Given the description of an element on the screen output the (x, y) to click on. 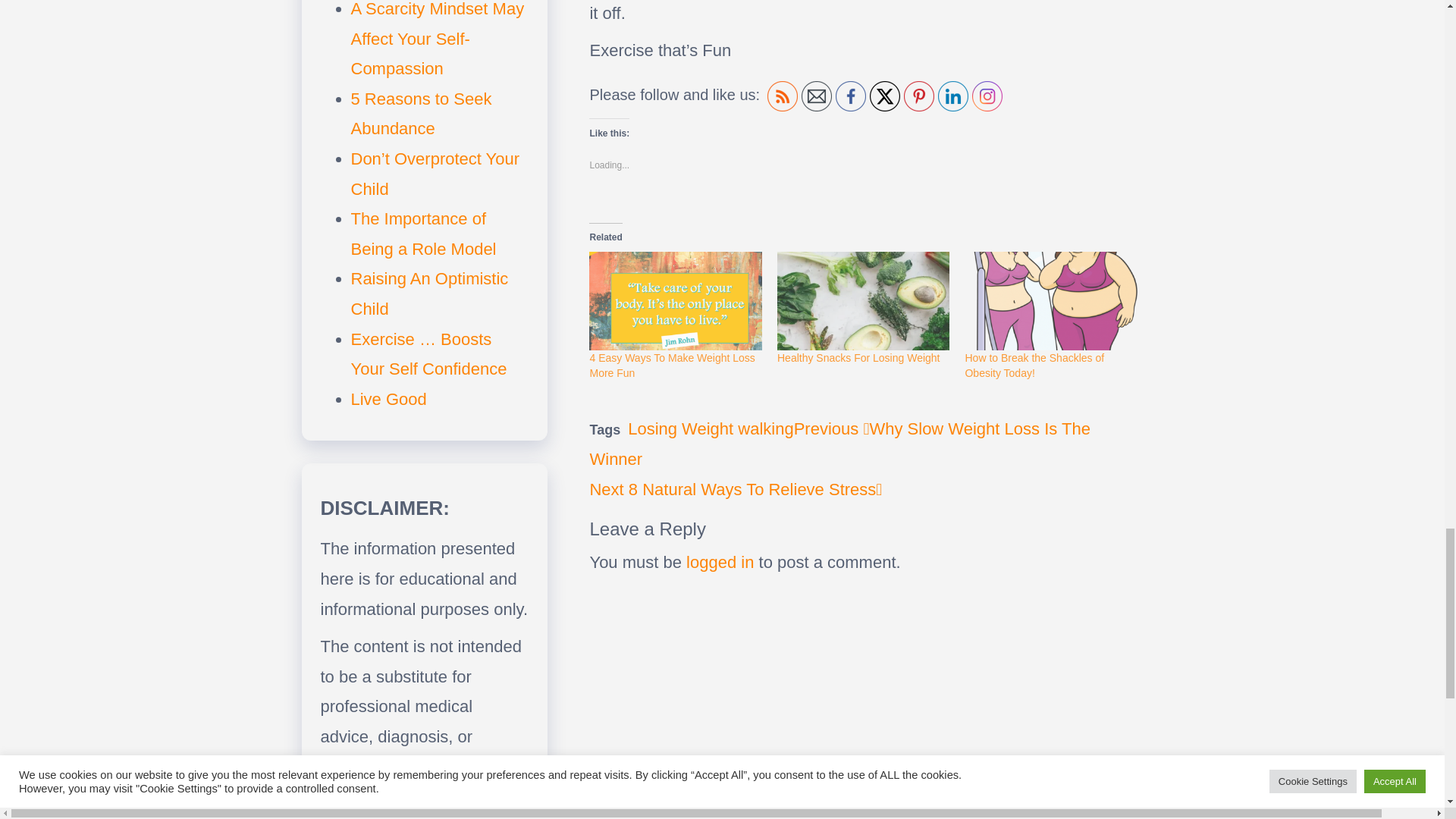
RSS (782, 96)
Facebook (850, 96)
Twitter (884, 96)
Losing Weight (680, 428)
4 Easy Ways To Make Weight Loss More Fun (735, 488)
logged in (671, 365)
PINTEREST (719, 561)
Healthy Snacks For Losing Weight (919, 96)
How to Break the Shackles of Obesity Today! (858, 357)
walking (1033, 365)
Follow by Email (765, 428)
